Given the description of an element on the screen output the (x, y) to click on. 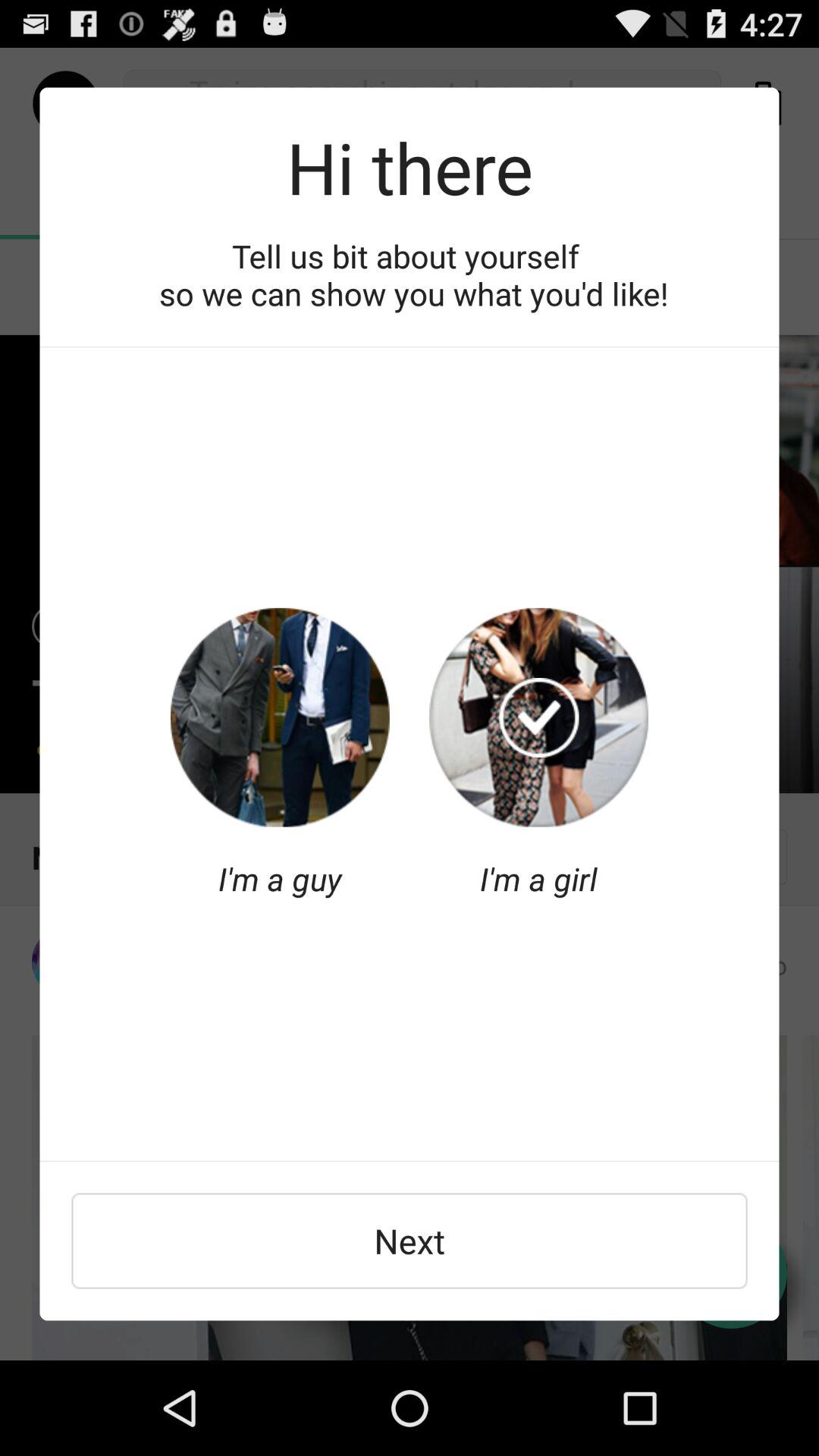
select gender (279, 716)
